Given the description of an element on the screen output the (x, y) to click on. 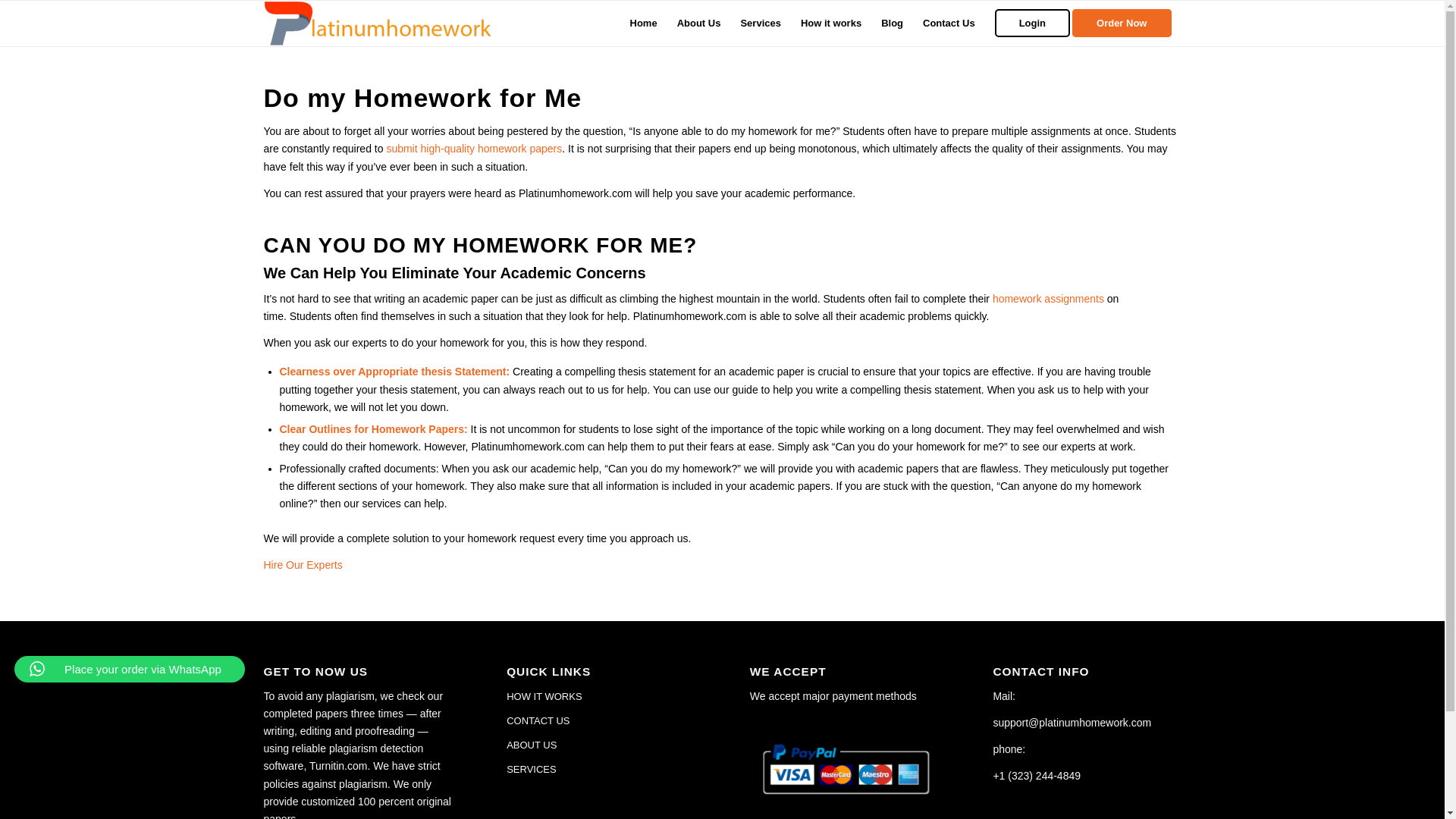
SERVICES (600, 769)
HOW IT WORKS (600, 696)
How it works (830, 22)
Blog (891, 22)
CONTACT US (600, 721)
Contact Us (948, 22)
Login (1032, 22)
ABOUT US (600, 745)
Home (643, 22)
Order Now (1125, 22)
submit high-quality homework papers (473, 148)
About Us (698, 22)
homework assignments (1047, 298)
Hire Our Experts (302, 564)
Services (760, 22)
